Given the description of an element on the screen output the (x, y) to click on. 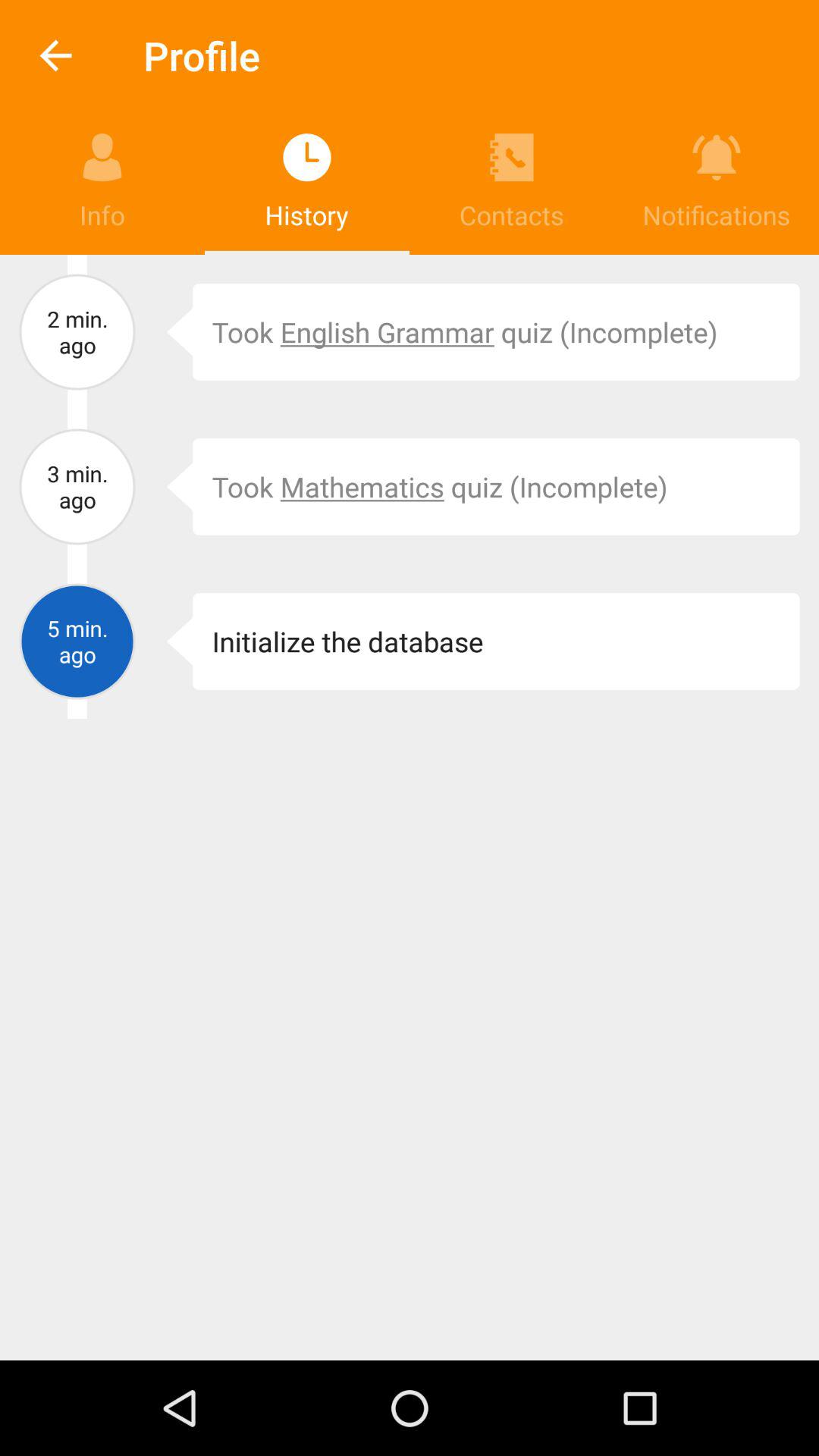
choose the icon next to took english grammar icon (168, 332)
